Given the description of an element on the screen output the (x, y) to click on. 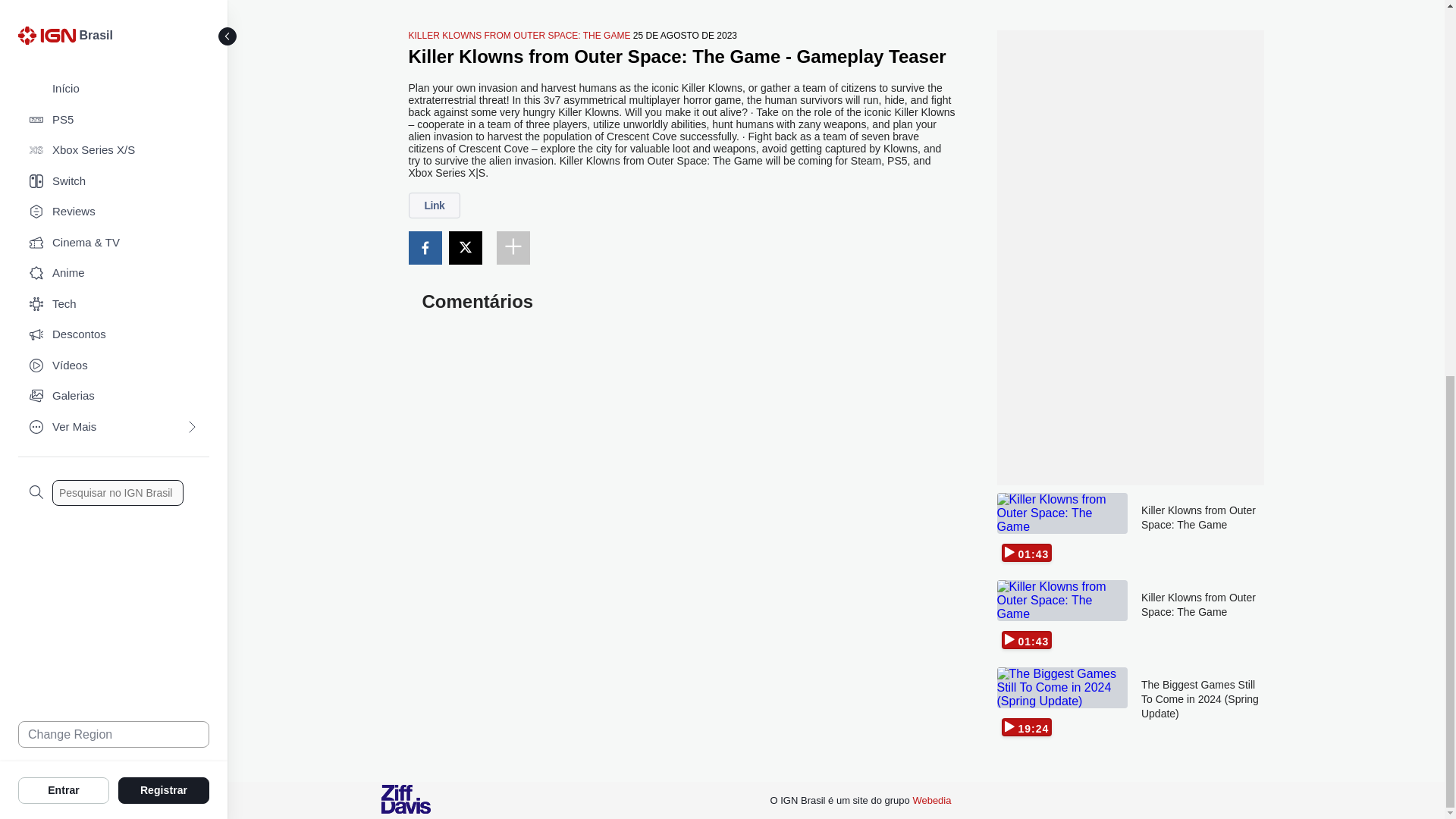
KILLER KLOWNS FROM OUTER SPACE: THE GAME (518, 35)
01:43 (1060, 529)
Link (433, 205)
Killer Klowns from Outer Space: The Game (1202, 529)
Registrar (163, 97)
Entrar (63, 97)
